Given the description of an element on the screen output the (x, y) to click on. 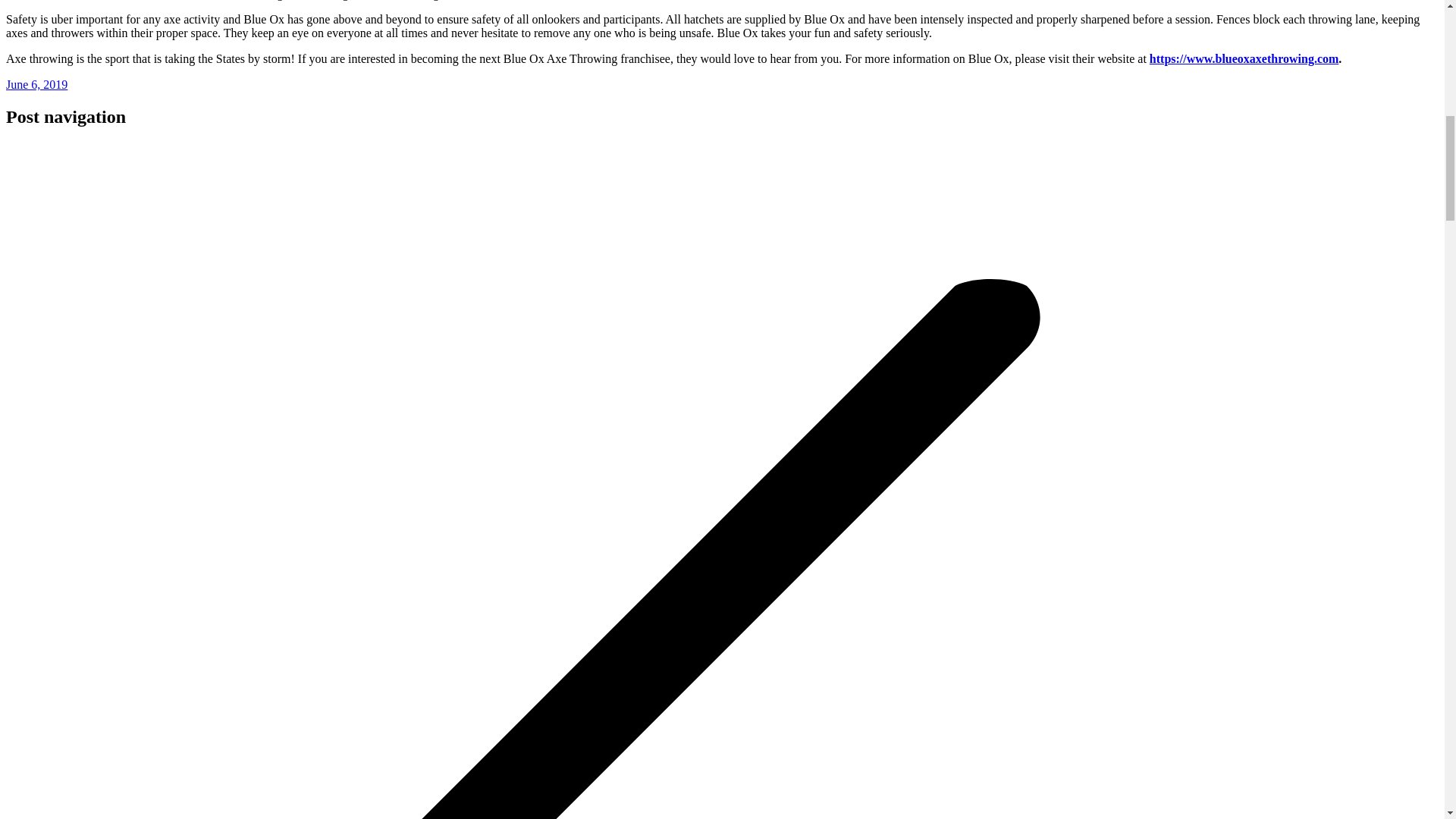
June 6, 2019 (35, 83)
2:00 pm (35, 83)
